Given the description of an element on the screen output the (x, y) to click on. 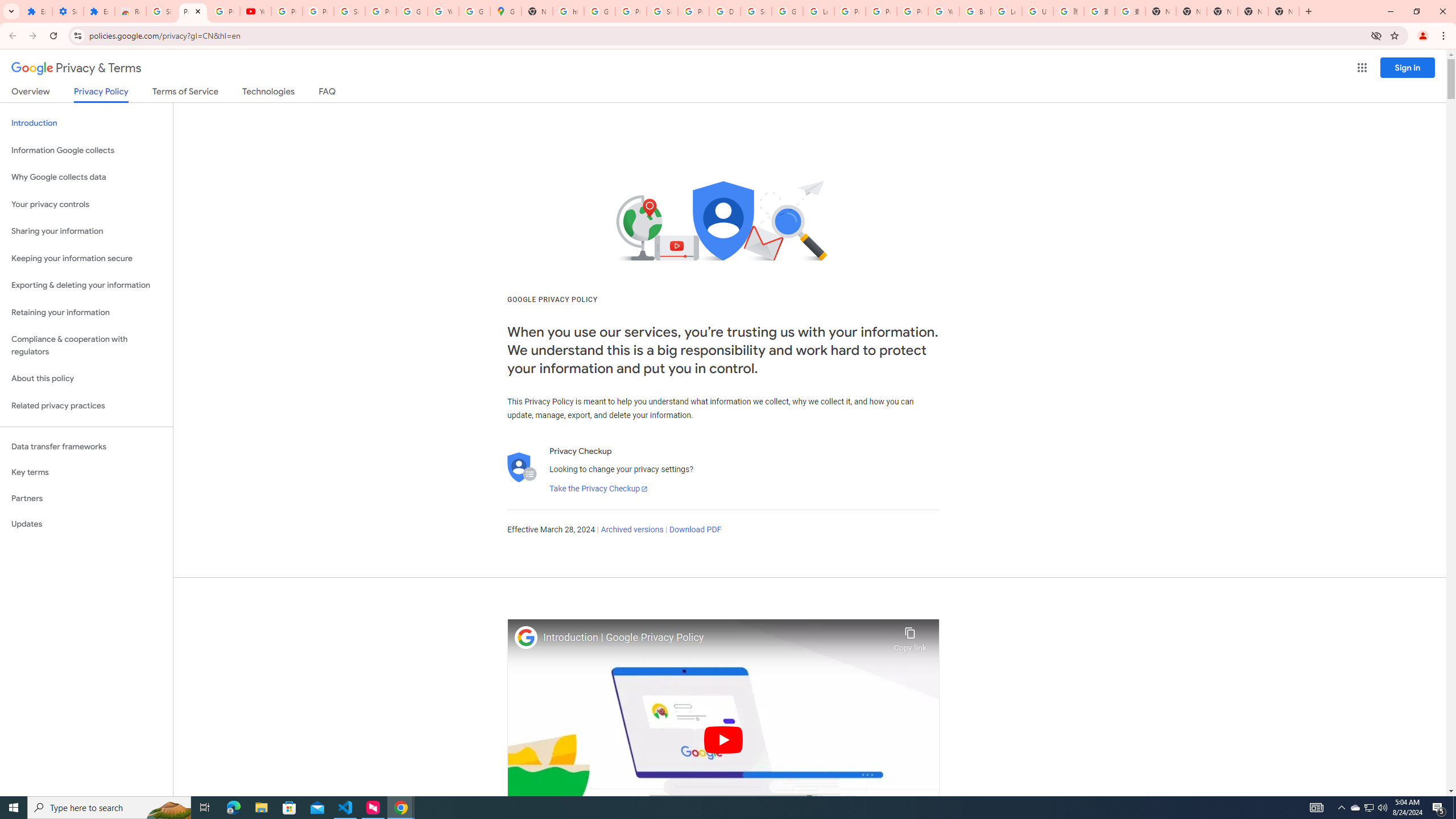
Compliance & cooperation with regulators (86, 345)
Exporting & deleting your information (86, 284)
Key terms (86, 472)
Sign in - Google Accounts (349, 11)
Archived versions (631, 529)
Retaining your information (86, 312)
